Given the description of an element on the screen output the (x, y) to click on. 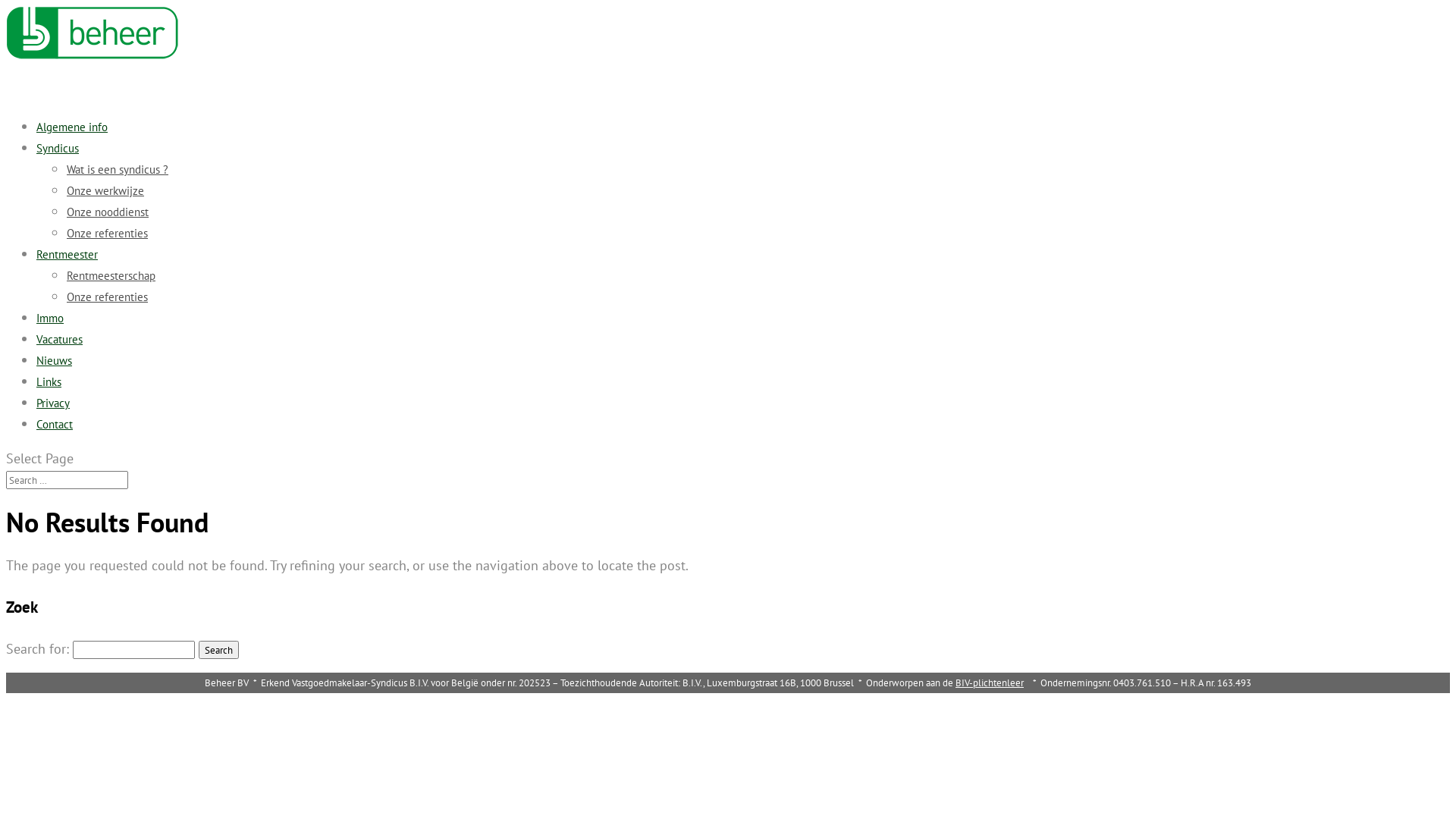
Search for: Element type: hover (67, 479)
Immo Element type: text (49, 336)
Wat is een syndicus ? Element type: text (117, 169)
Rentmeester Element type: text (66, 273)
Vacatures Element type: text (59, 358)
Nieuws Element type: text (54, 379)
BIV-plichtenleer Element type: text (989, 682)
Rentmeesterschap Element type: text (110, 275)
Syndicus Element type: text (57, 167)
Onze werkwijze Element type: text (105, 190)
Search Element type: text (218, 649)
Onze referenties Element type: text (106, 296)
Onze nooddienst Element type: text (107, 211)
Contact Element type: text (54, 443)
Algemene info Element type: text (71, 145)
Onze referenties Element type: text (106, 232)
Privacy Element type: text (52, 421)
Links Element type: text (48, 400)
